Given the description of an element on the screen output the (x, y) to click on. 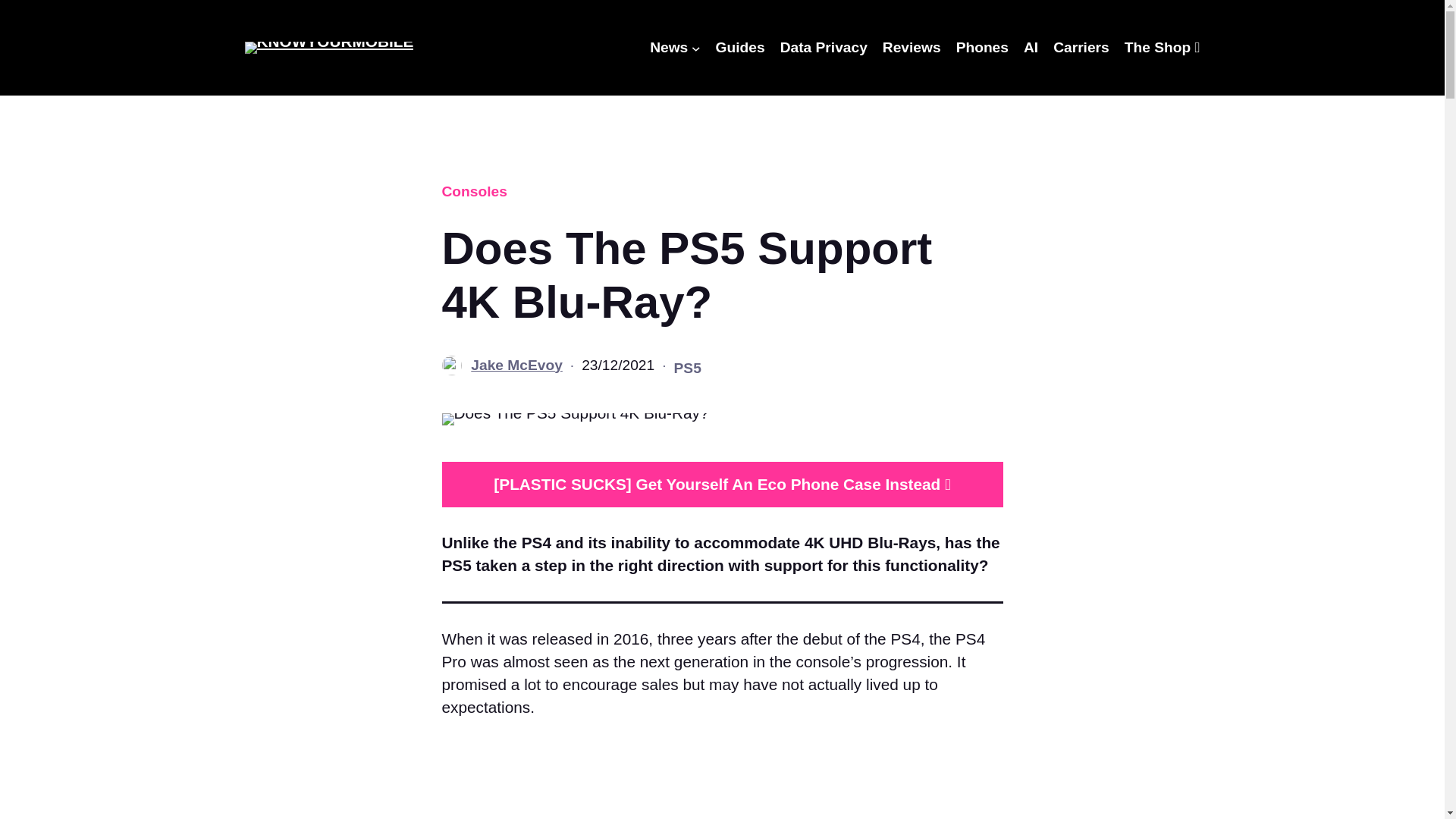
PS5 (687, 367)
Data Privacy (823, 47)
Guides (740, 47)
Does The PS5 Support 4K Blu-Ray? (574, 419)
Consoles (473, 191)
News (668, 47)
Carriers (1080, 47)
Reviews (911, 47)
Phones (982, 47)
Jake McEvoy (516, 365)
